Given the description of an element on the screen output the (x, y) to click on. 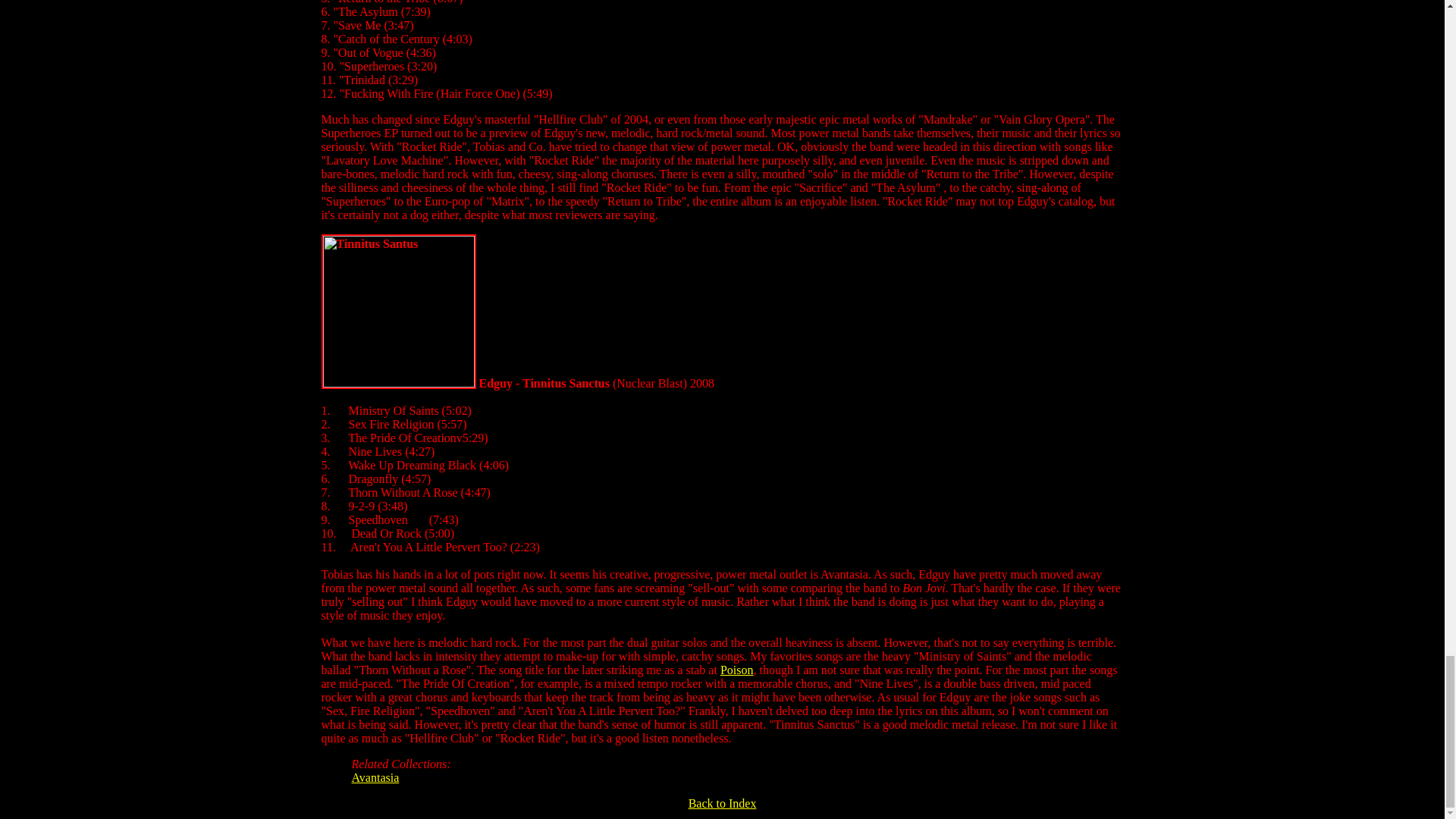
Poison (737, 669)
Avantasia (375, 777)
Back to Index (722, 802)
